Given the description of an element on the screen output the (x, y) to click on. 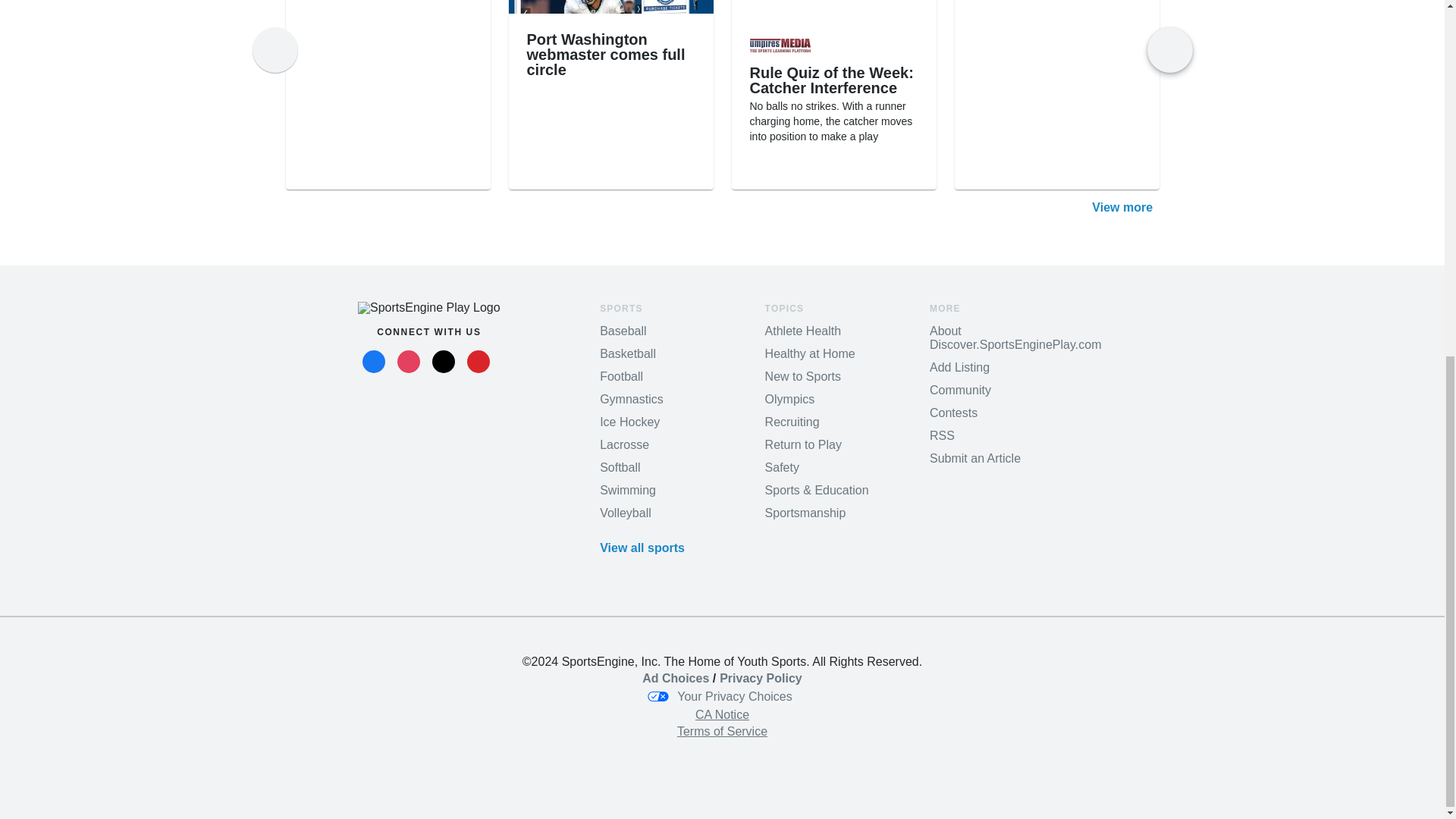
Your privacy choices (675, 677)
Parent Container for the Privacy Choices Button (734, 696)
CA Notice (722, 714)
Your privacy choices (760, 677)
Term of Use Link (722, 730)
